Given the description of an element on the screen output the (x, y) to click on. 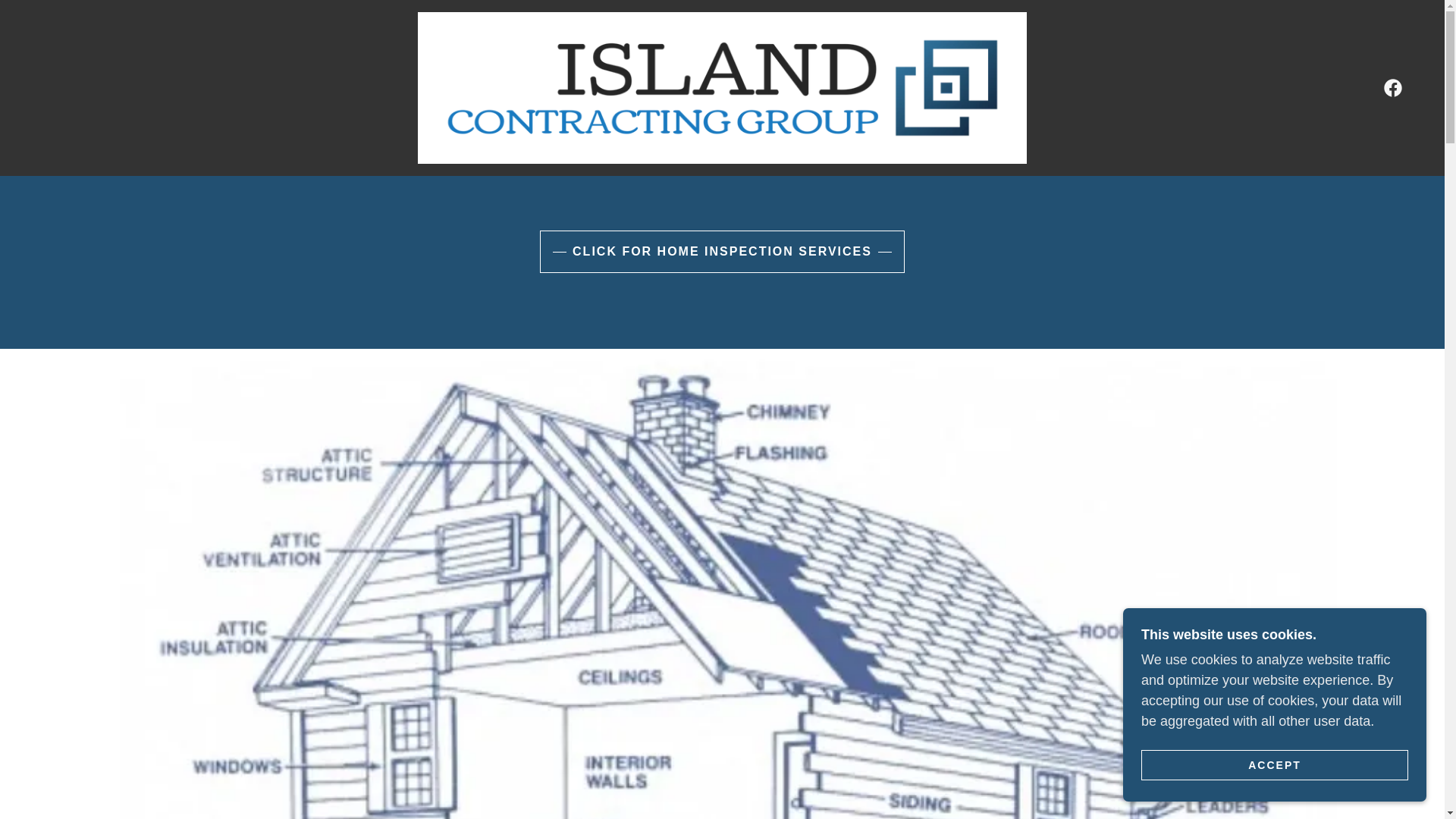
ACCEPT (1274, 764)
CLICK FOR HOME INSPECTION SERVICES (722, 251)
